Given the description of an element on the screen output the (x, y) to click on. 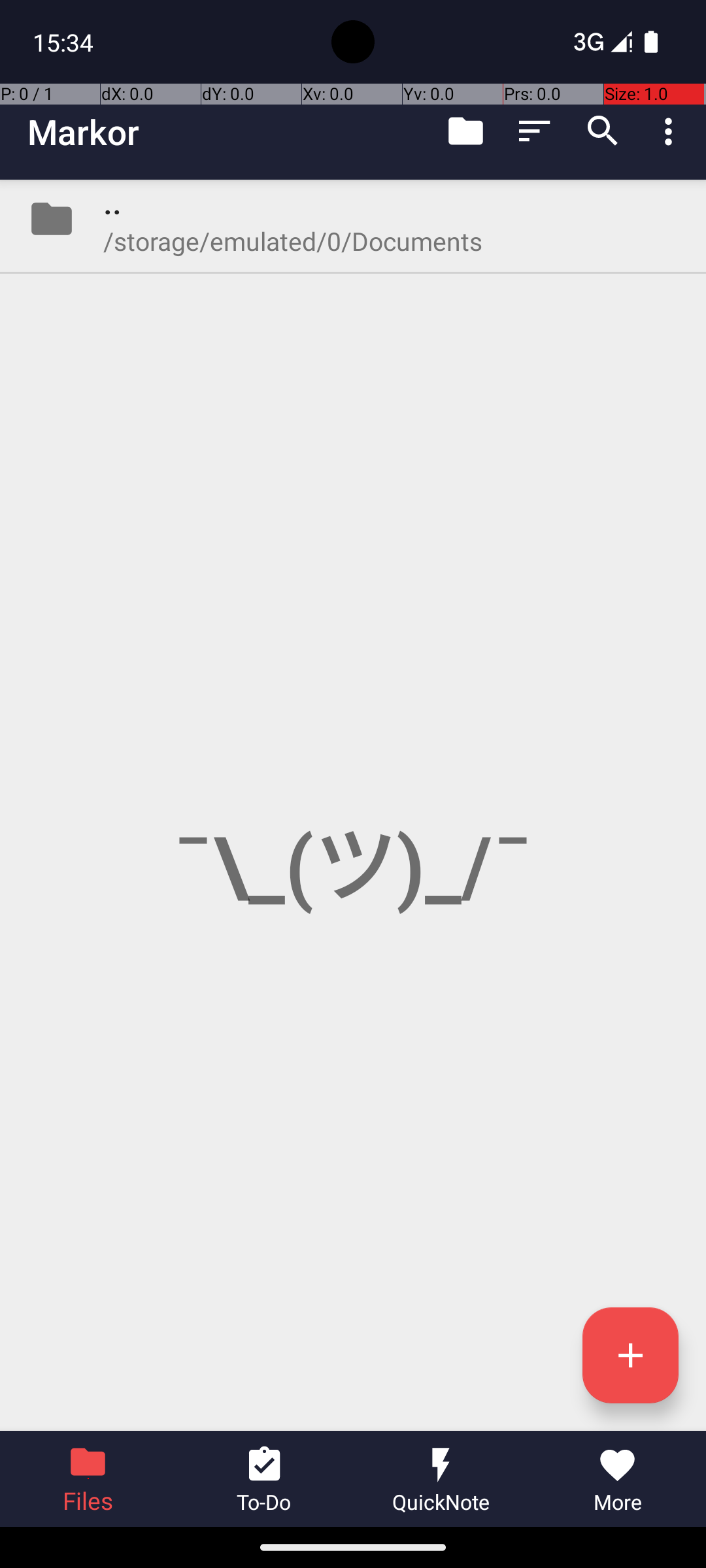
¯\_(ツ)_/¯ Element type: android.widget.TextView (353, 804)
